Given the description of an element on the screen output the (x, y) to click on. 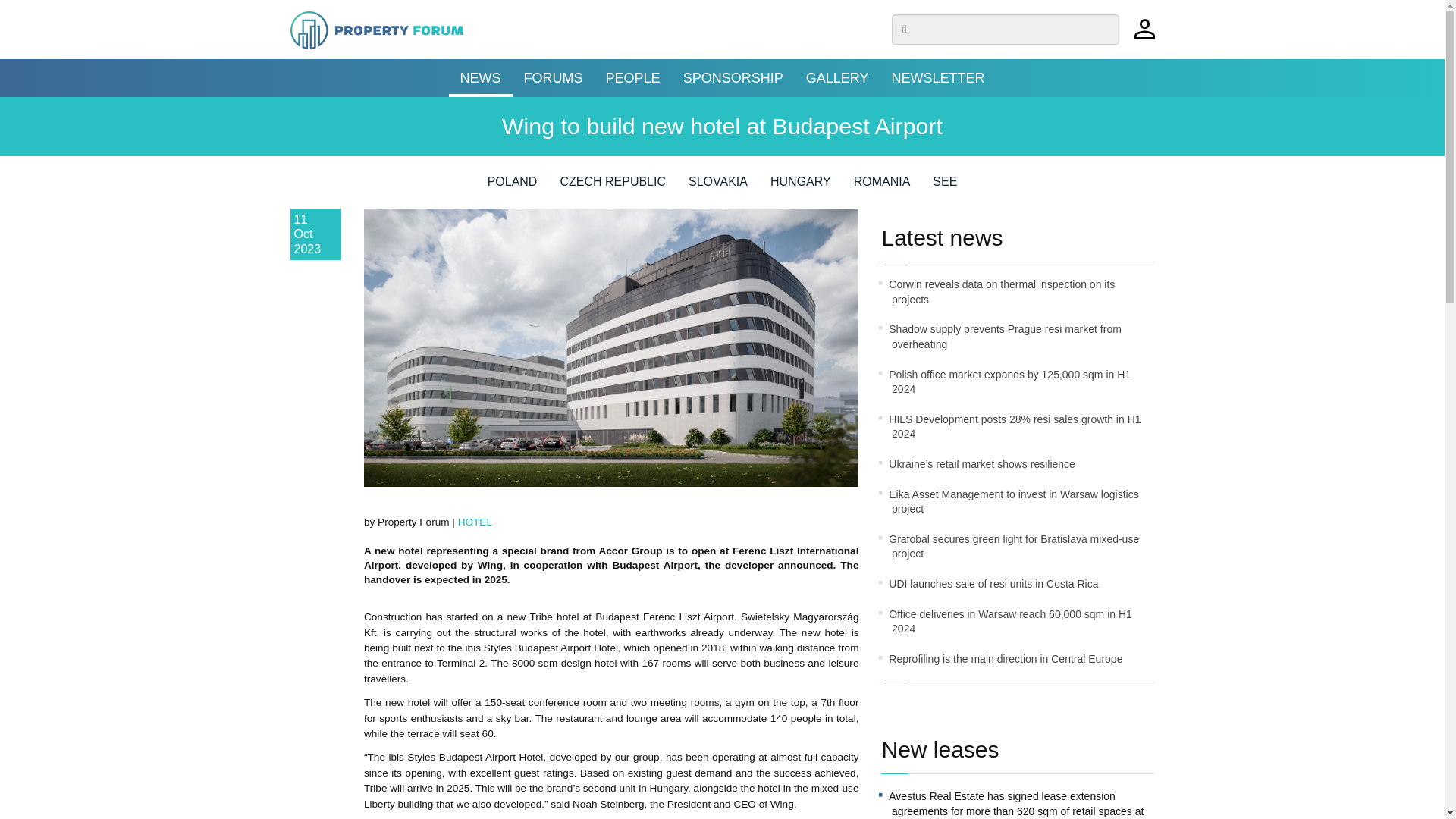
GALLERY (837, 77)
CZECH REPUBLIC (612, 186)
SLOVAKIA (718, 186)
FORUMS (553, 77)
Signed out (1144, 36)
HOTEL (475, 521)
NEWSLETTER (937, 77)
NEWS (480, 77)
SEE (944, 186)
HUNGARY (800, 186)
